Given the description of an element on the screen output the (x, y) to click on. 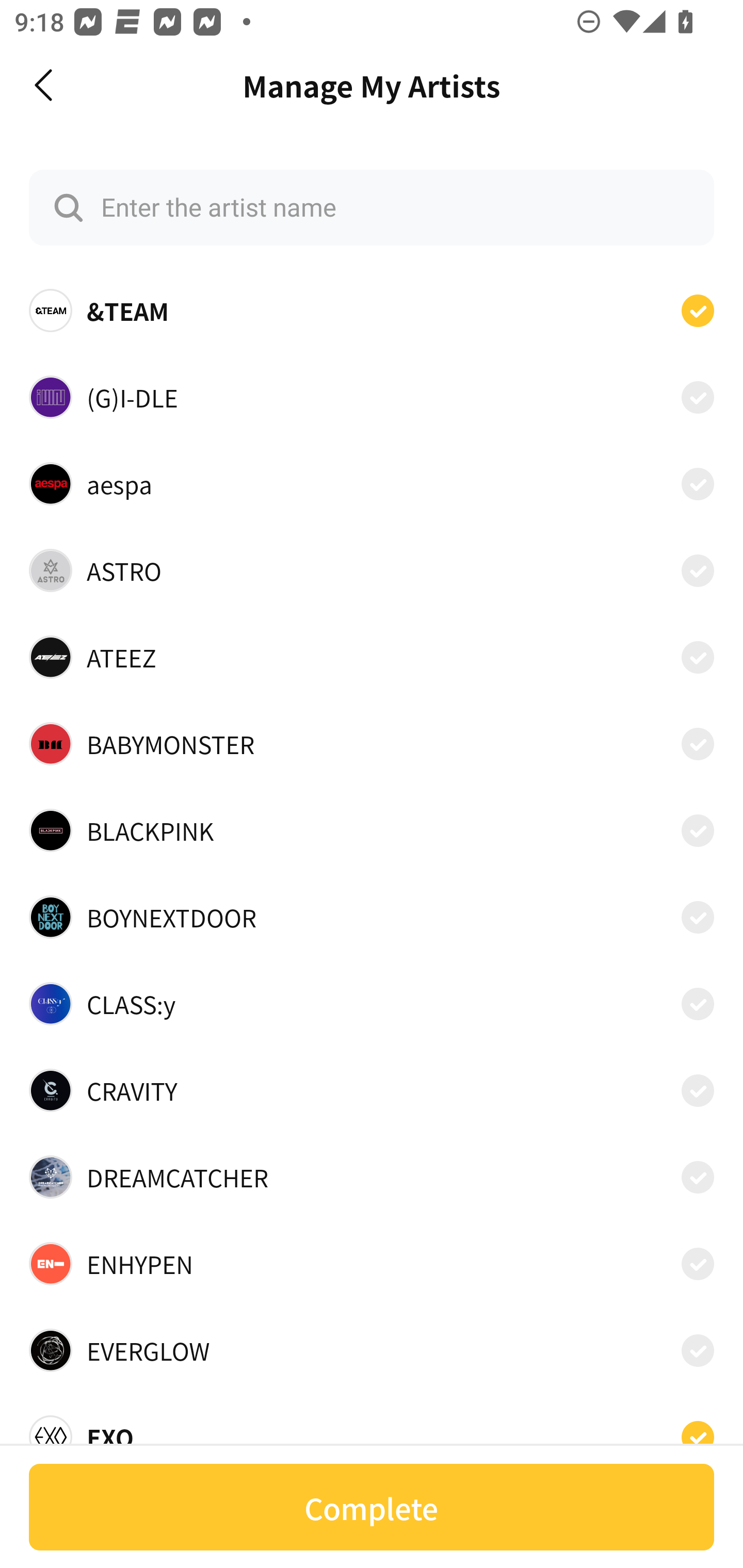
Enter the artist name (371, 207)
&TEAM (371, 310)
(G)I-DLE (371, 396)
aespa (371, 483)
ASTRO (371, 570)
ATEEZ (371, 656)
BABYMONSTER (371, 743)
BLACKPINK (371, 830)
BOYNEXTDOOR (371, 917)
CLASS:y (371, 1003)
CRAVITY (371, 1090)
DREAMCATCHER (371, 1176)
ENHYPEN (371, 1263)
EVERGLOW (371, 1350)
EXO (371, 1430)
Complete (371, 1507)
